Given the description of an element on the screen output the (x, y) to click on. 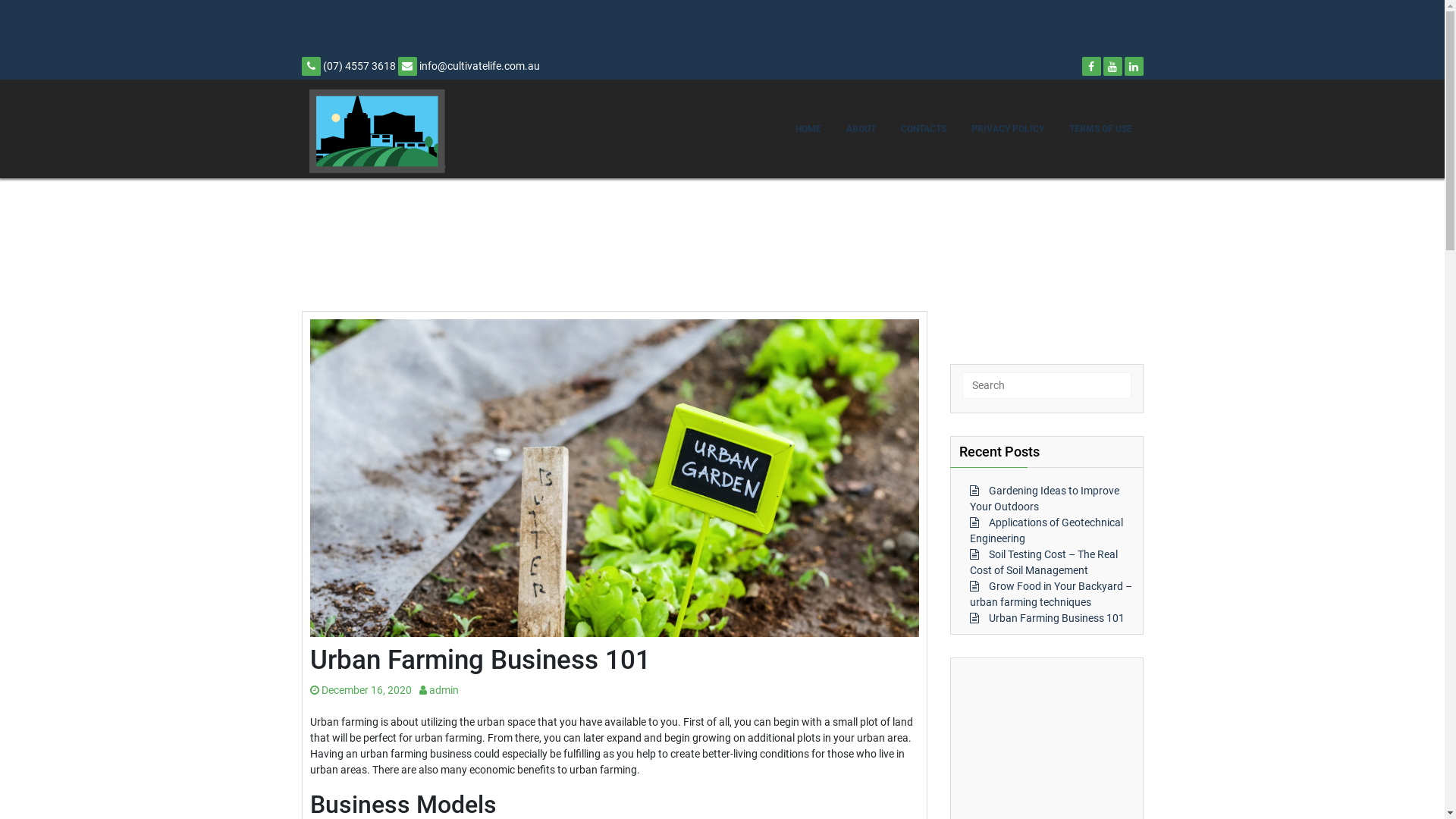
CONTACTS Element type: text (922, 128)
HOME Element type: text (808, 128)
PRIVACY POLICY Element type: text (1007, 128)
TERMS OF USE Element type: text (1099, 128)
December 16, 2020 Element type: text (360, 690)
Search for: Element type: hover (1045, 385)
admin Element type: text (438, 690)
Applications of Geotechnical Engineering  Element type: text (1045, 530)
info@cultivatelife.com.au Element type: text (468, 65)
(07) 4557 3618 Element type: text (348, 65)
Gardening Ideas to Improve Your Outdoors Element type: text (1043, 498)
ABOUT Element type: text (860, 128)
Search  Element type: text (108, 13)
Urban Farming Business 101 Element type: text (1056, 617)
